Given the description of an element on the screen output the (x, y) to click on. 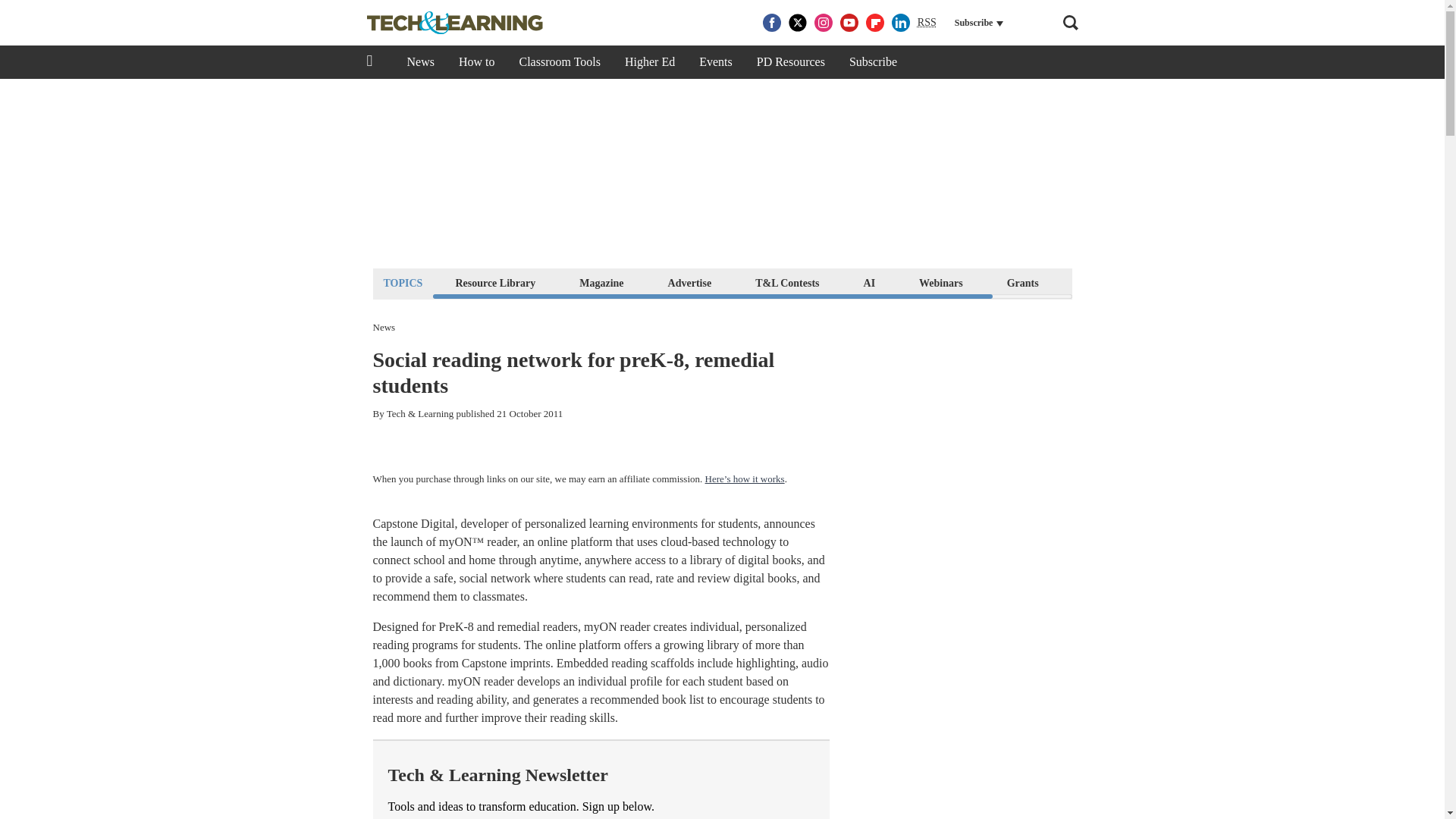
Magazine (600, 282)
Capstone Digital (413, 522)
RSS (926, 22)
What to Buy (1111, 282)
Classroom Tools (558, 61)
Higher Ed (649, 61)
Advertise (689, 282)
Subscribe (872, 61)
PD Resources (790, 61)
Really Simple Syndication (926, 21)
